Given the description of an element on the screen output the (x, y) to click on. 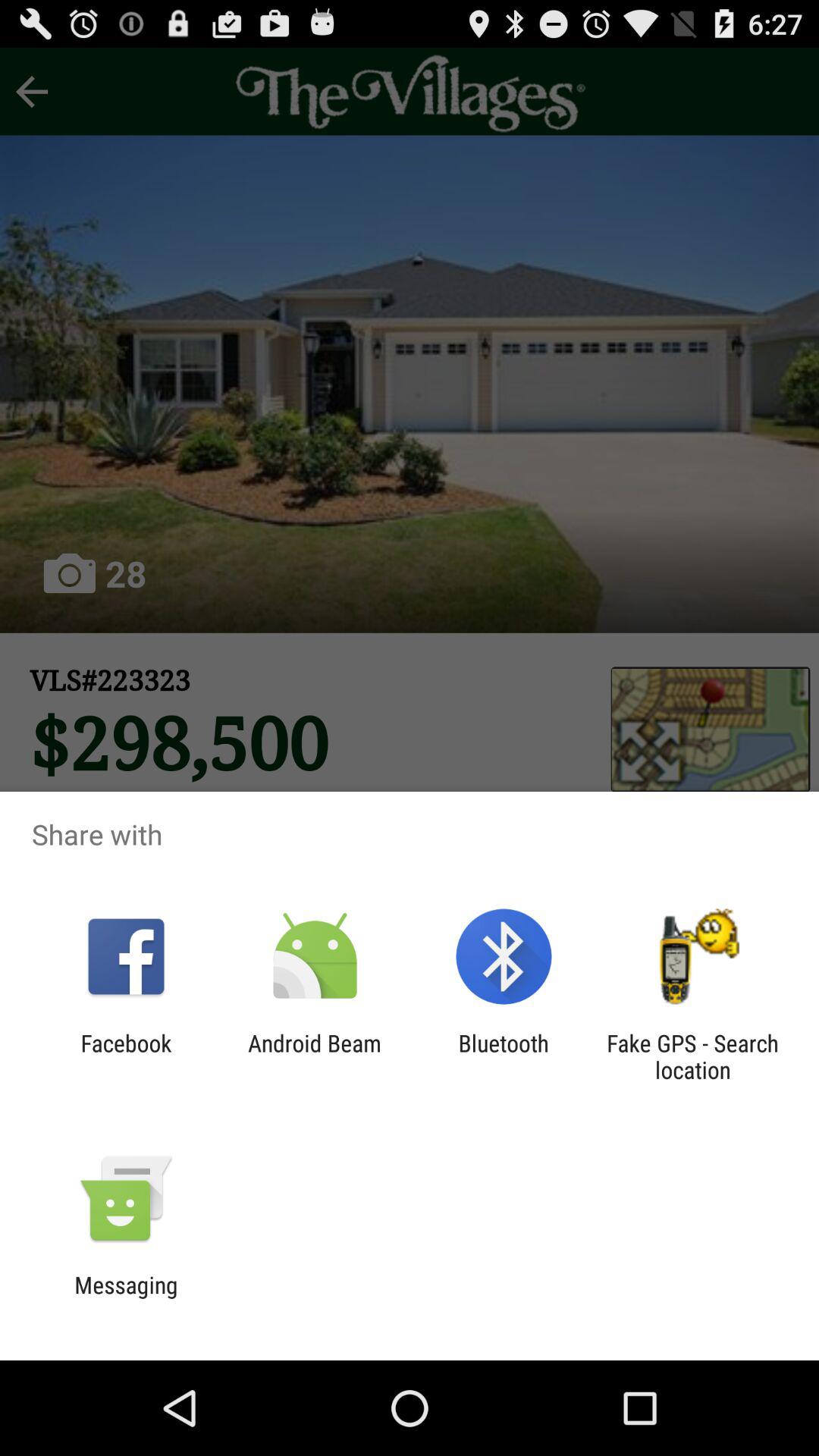
choose icon next to the fake gps search app (503, 1056)
